Given the description of an element on the screen output the (x, y) to click on. 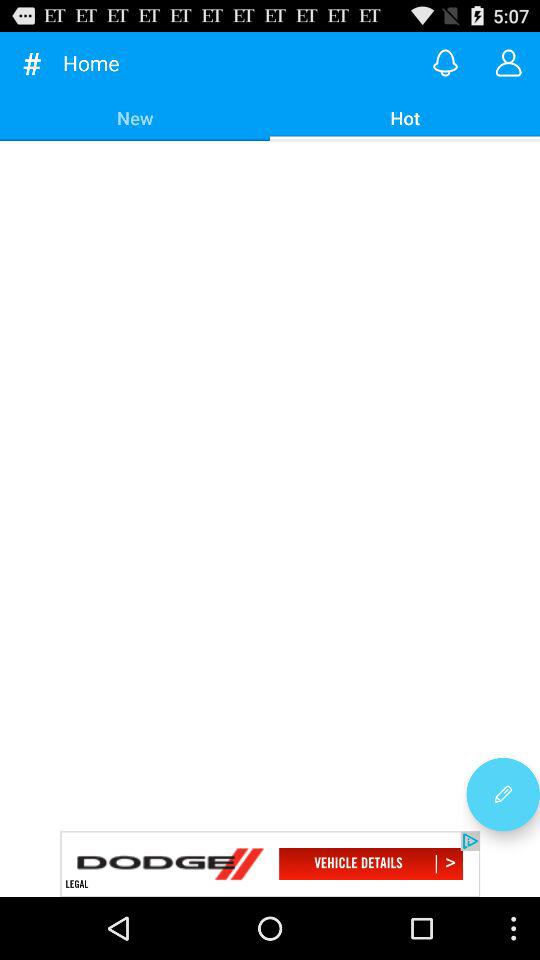
edit (503, 794)
